Given the description of an element on the screen output the (x, y) to click on. 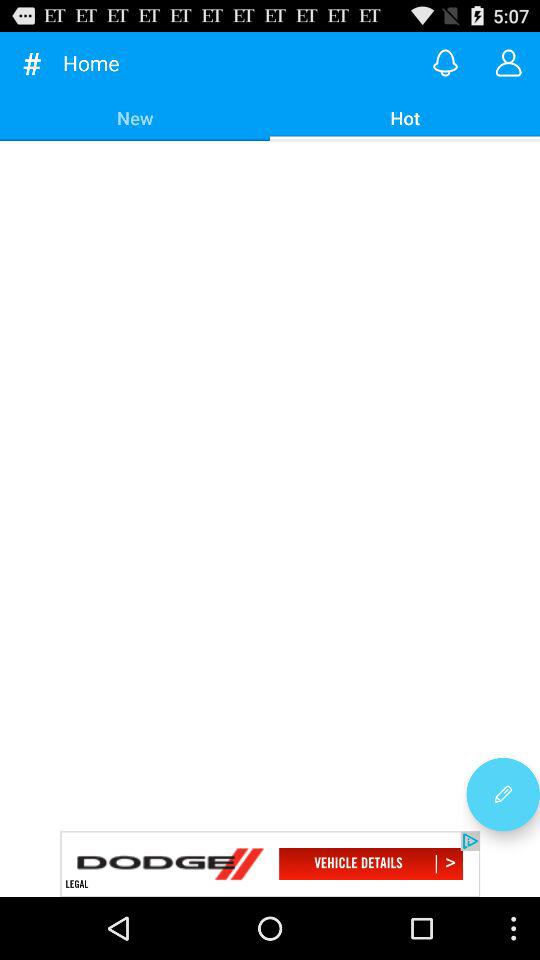
edit (503, 794)
